Given the description of an element on the screen output the (x, y) to click on. 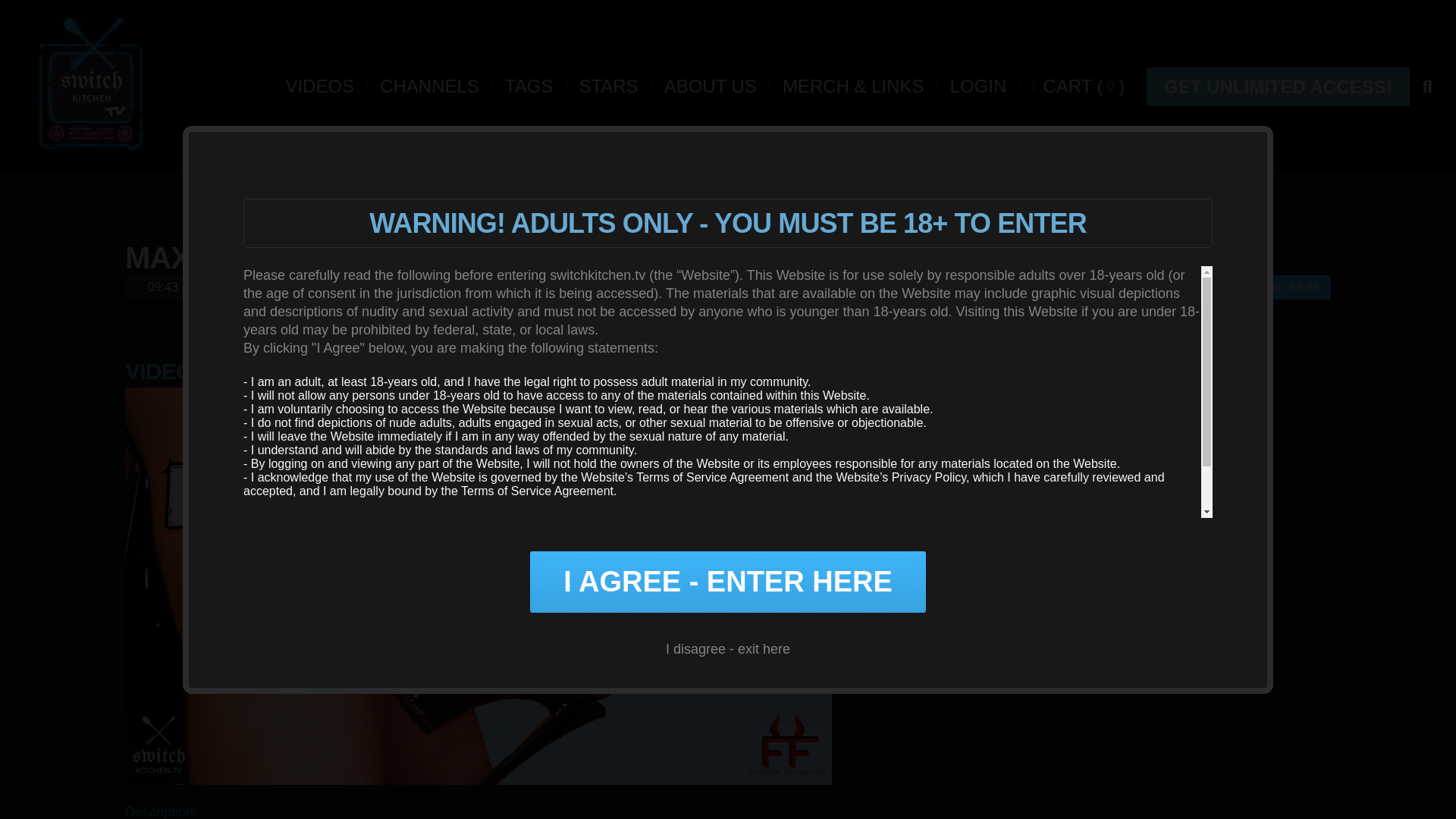
STARS (607, 86)
ABOUT US (710, 86)
LOGIN (978, 86)
altrawmedia (90, 86)
TAGS (529, 86)
VIDEOS (319, 86)
CHANNELS (429, 86)
GET UNLIMITED ACCESS! (1278, 85)
